Given the description of an element on the screen output the (x, y) to click on. 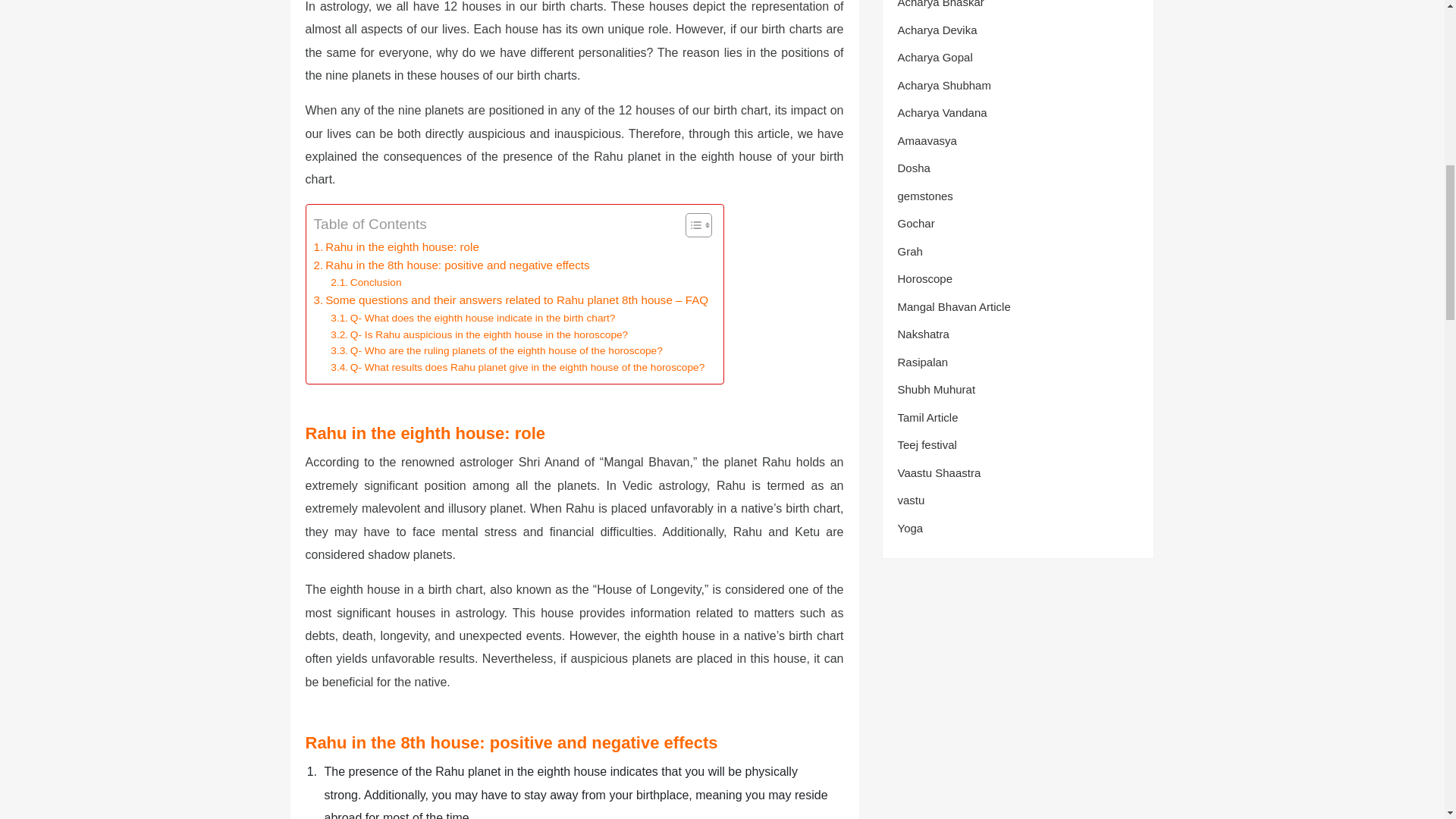
Rahu in the 8th house: positive and negative effects  (453, 265)
Rahu in the eighth house: role     (403, 247)
Q- What does the eighth house indicate in the birth chart? (472, 318)
Conclusion   (368, 282)
